Given the description of an element on the screen output the (x, y) to click on. 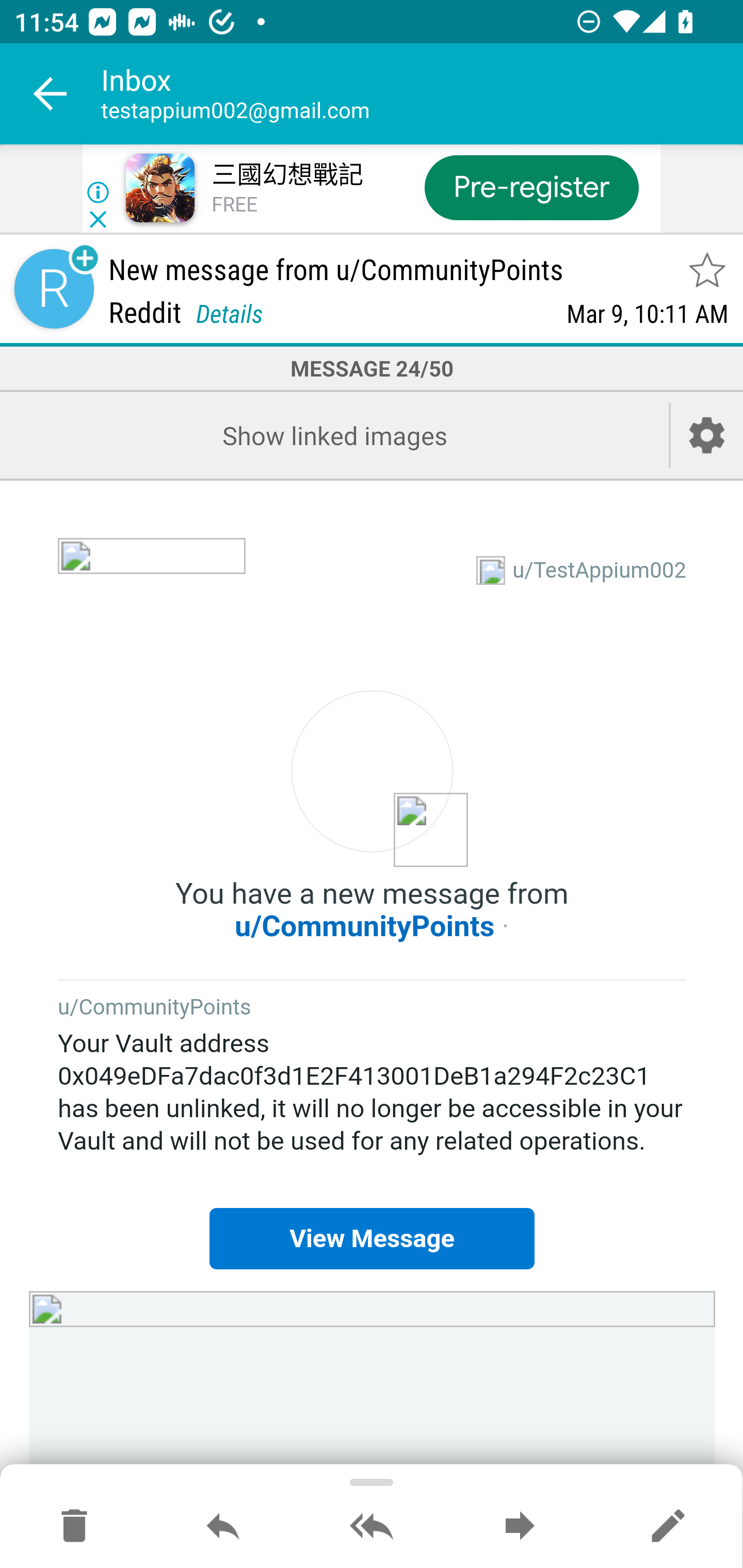
Navigate up (50, 93)
Inbox testappium002@gmail.com (422, 93)
Pre-register (530, 187)
三國幻想戰記 (287, 175)
FREE (234, 204)
Sender contact button (53, 289)
Show linked images (334, 435)
Account setup (706, 435)
stf_2bQVGEViGYSLoH-p_cp8TnCmUzbskHpp7opWl8g=343 (151, 571)
u/TestAppium002 (599, 570)
k953CYlMaTwh0p01IfXylAjA30qx0TiRyAzDNki6bpM=343 (372, 778)
u/CommunityPoints (364, 925)
u/CommunityPoints (154, 1008)
View Message (371, 1239)
UYHsm_VYdYvrX6v8bW6ZUcCFyZNFLLb_4kchyJ3FWK8=343 (372, 1363)
Move to Deleted (74, 1527)
Reply (222, 1527)
Reply all (371, 1527)
Forward (519, 1527)
Reply as new (667, 1527)
